Given the description of an element on the screen output the (x, y) to click on. 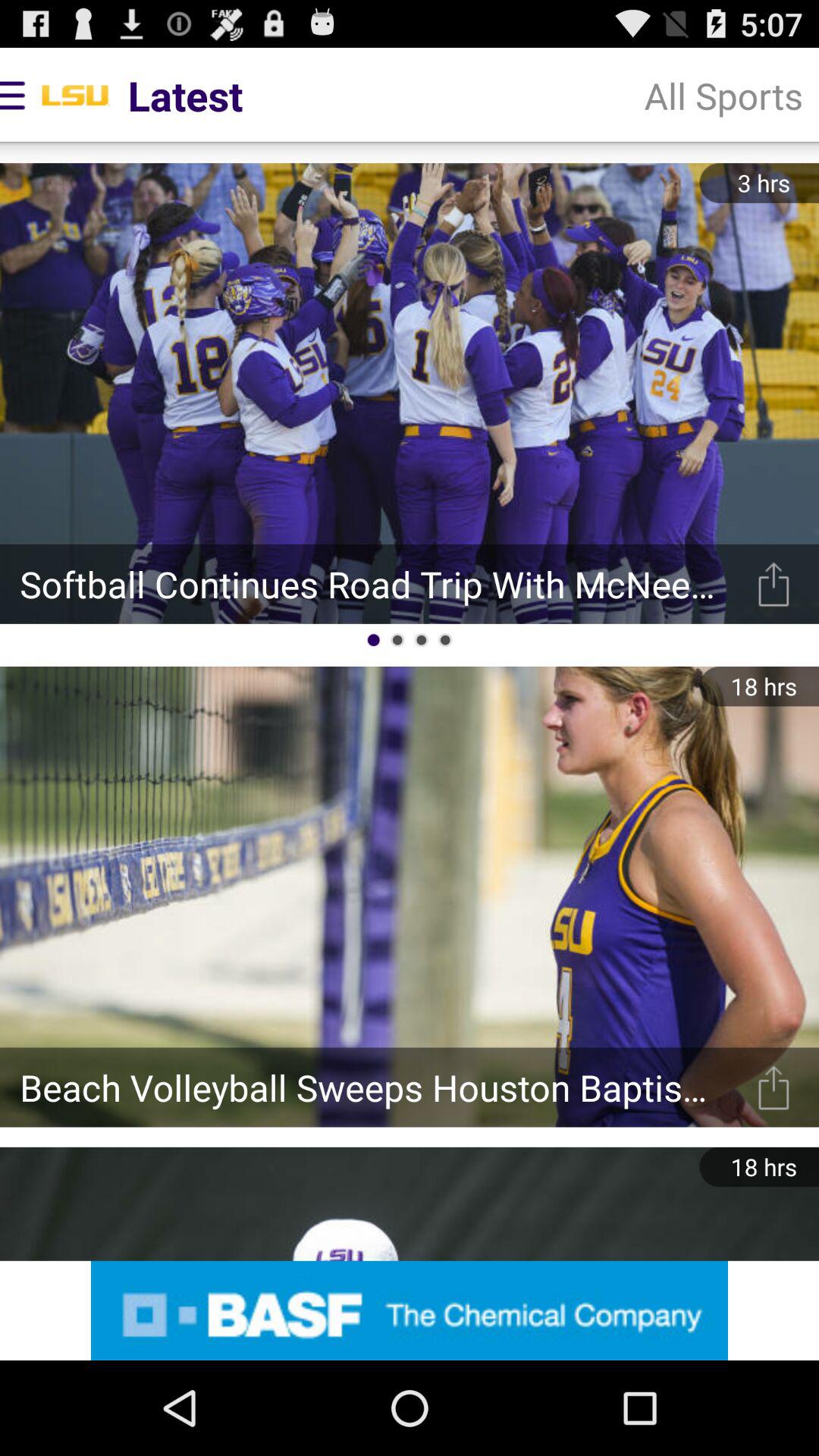
view advertisement (409, 1310)
